Given the description of an element on the screen output the (x, y) to click on. 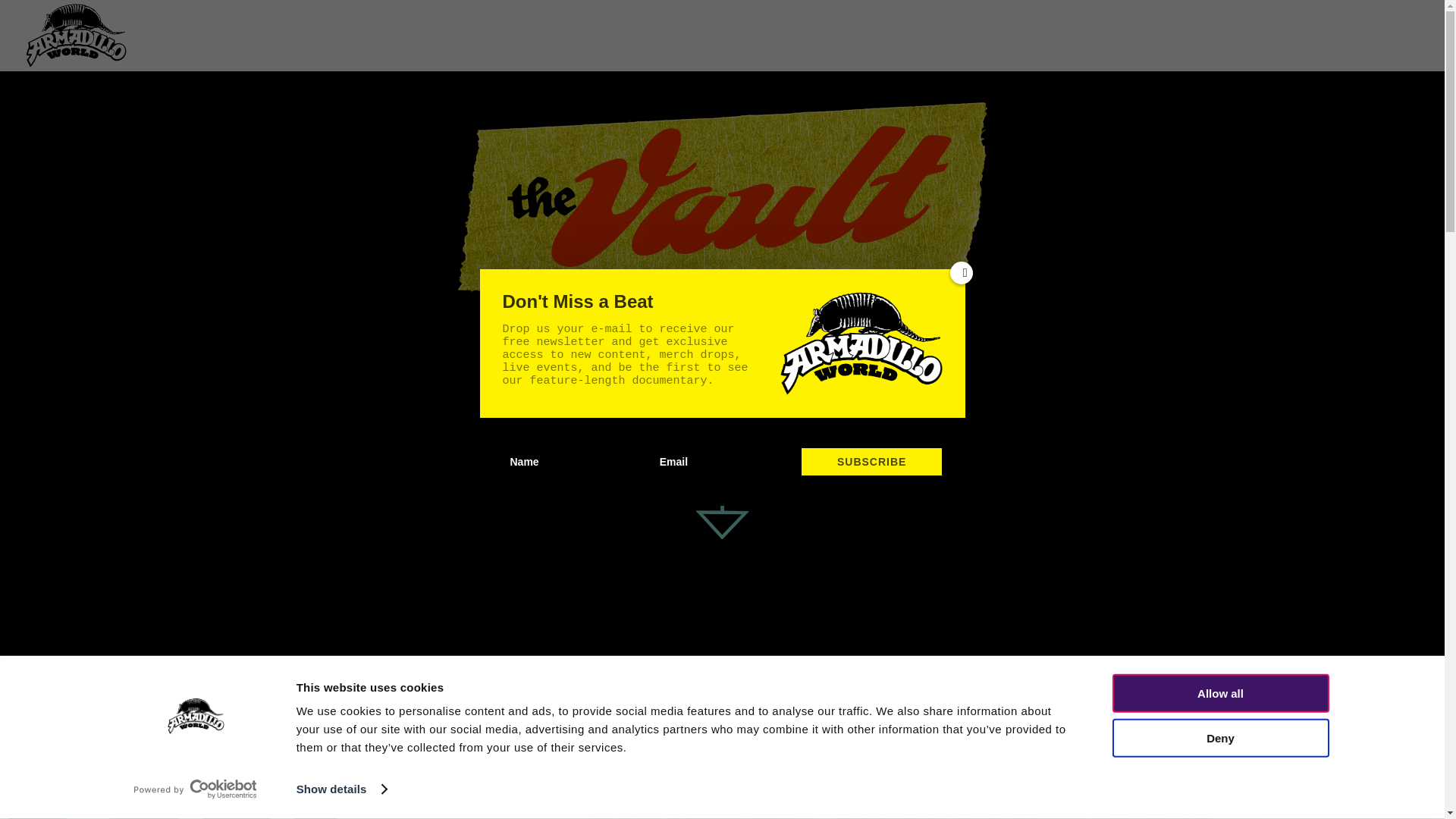
Allow all (1219, 693)
Show details (341, 789)
down-arrow (722, 495)
Deny (1219, 737)
the-vault-title (722, 197)
see-title (170, 788)
